Given the description of an element on the screen output the (x, y) to click on. 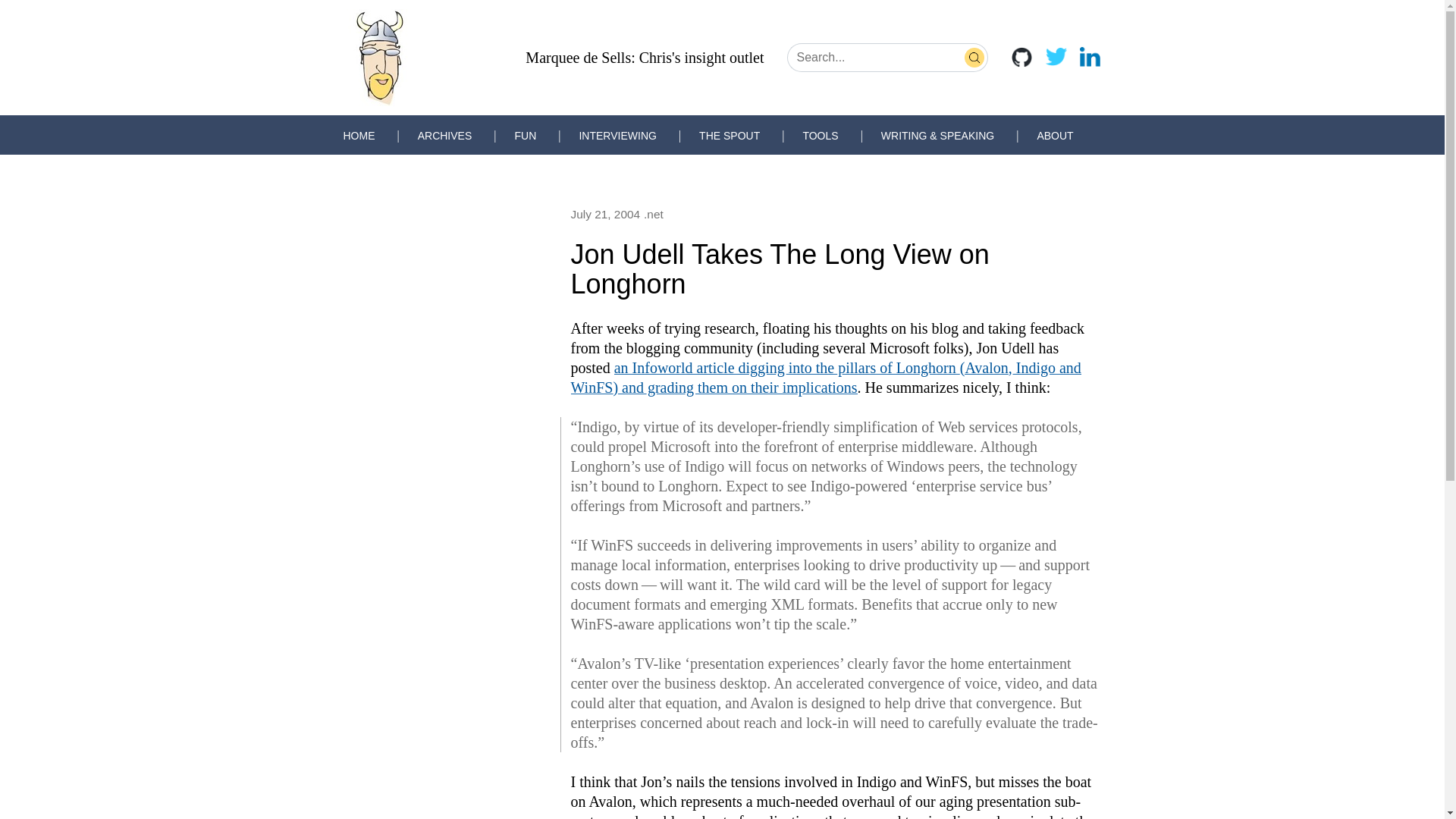
July 21, 2004 (605, 214)
THE SPOUT (729, 135)
LinkedIn (1089, 56)
.net (653, 214)
ABOUT (1054, 135)
HOME (358, 135)
Twitter (1056, 56)
FUN (524, 135)
TOOLS (820, 135)
Marquee de Sells: Chris's insight outlet (643, 57)
GitHub (1021, 56)
INTERVIEWING (617, 135)
ARCHIVES (444, 135)
